Given the description of an element on the screen output the (x, y) to click on. 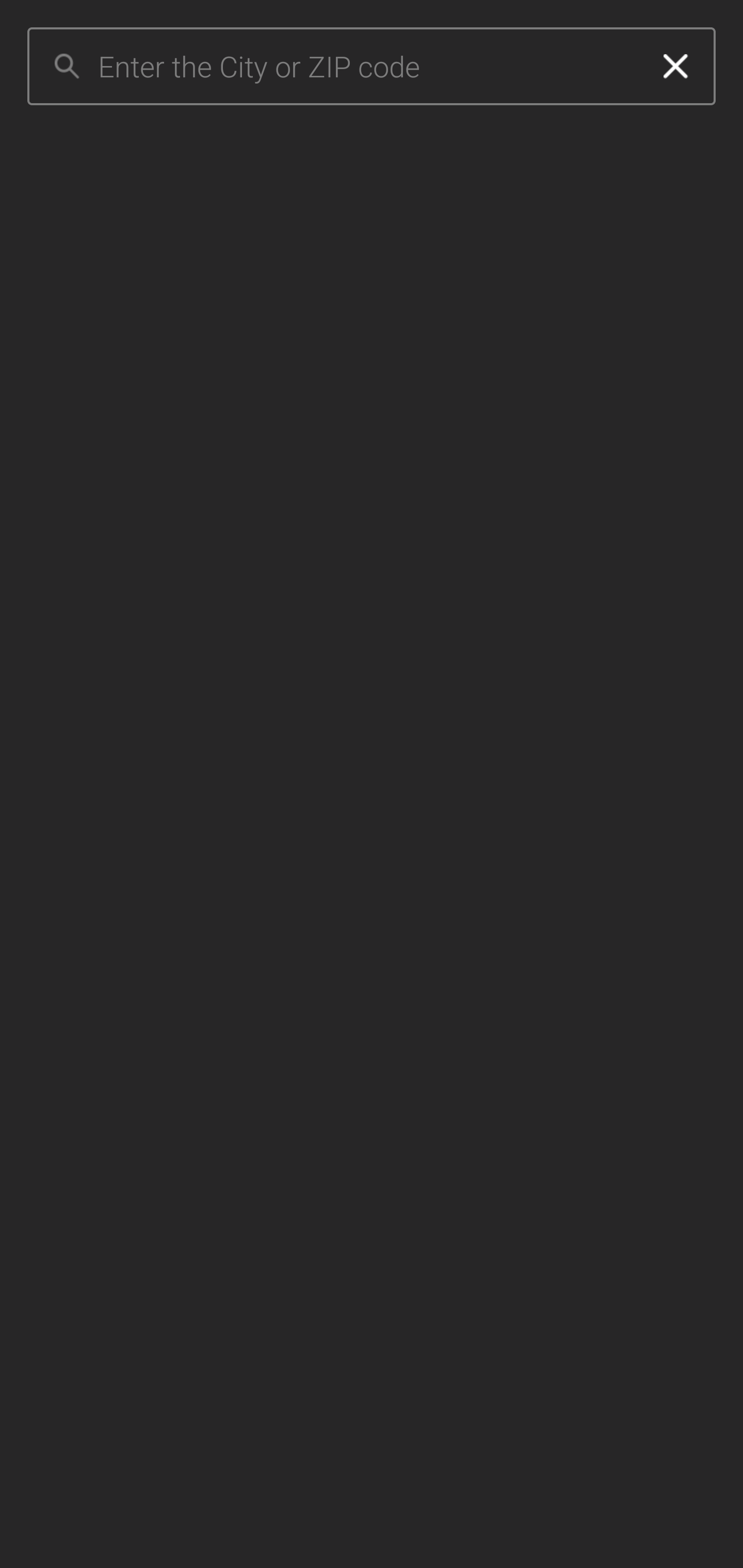
Enter the City or ZIP code (367, 66)
